Given the description of an element on the screen output the (x, y) to click on. 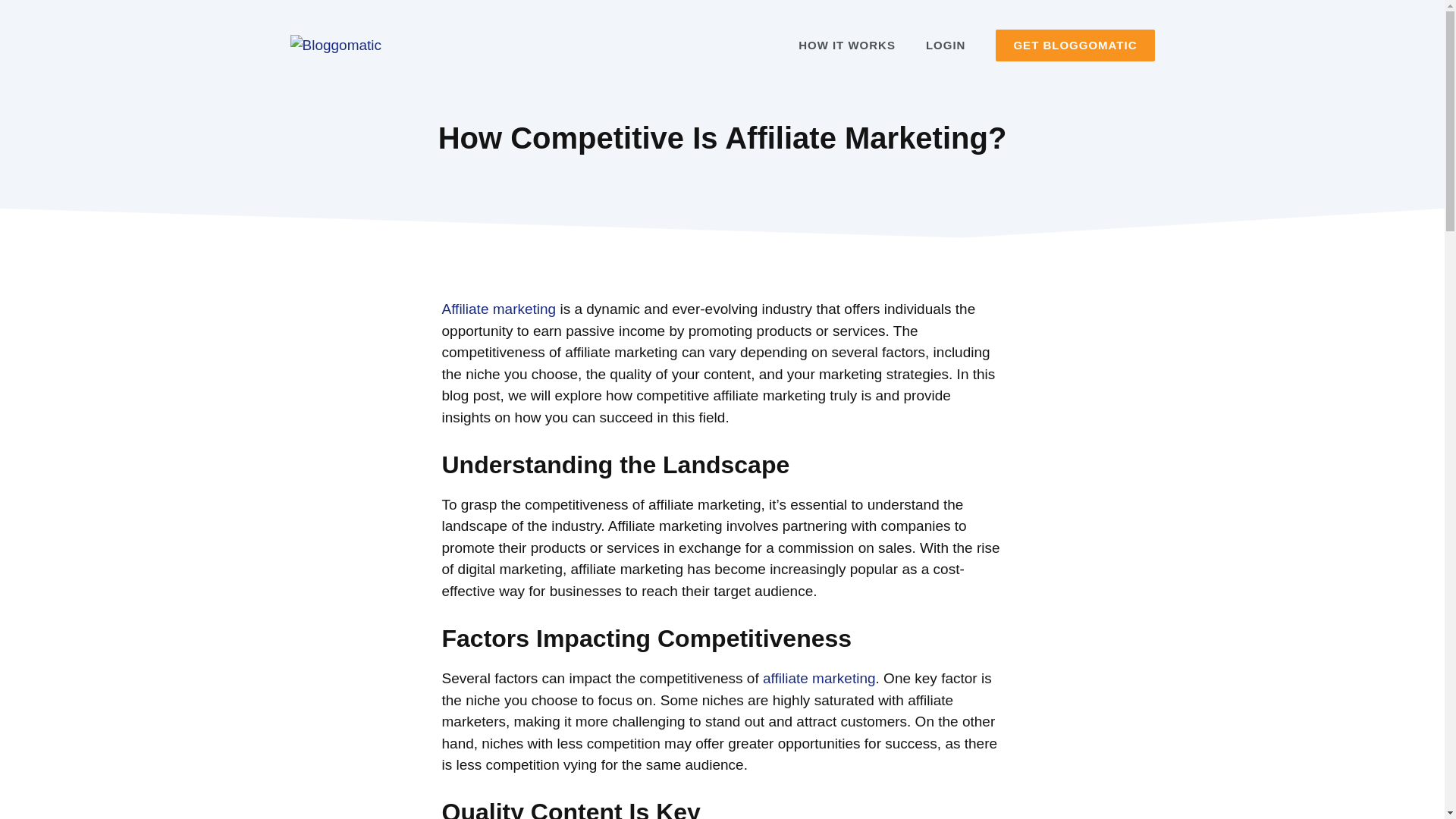
affiliate marketing (819, 678)
Affiliate marketing (498, 308)
LOGIN (946, 44)
GET BLOGGOMATIC (1074, 45)
HOW IT WORKS (847, 44)
